Given the description of an element on the screen output the (x, y) to click on. 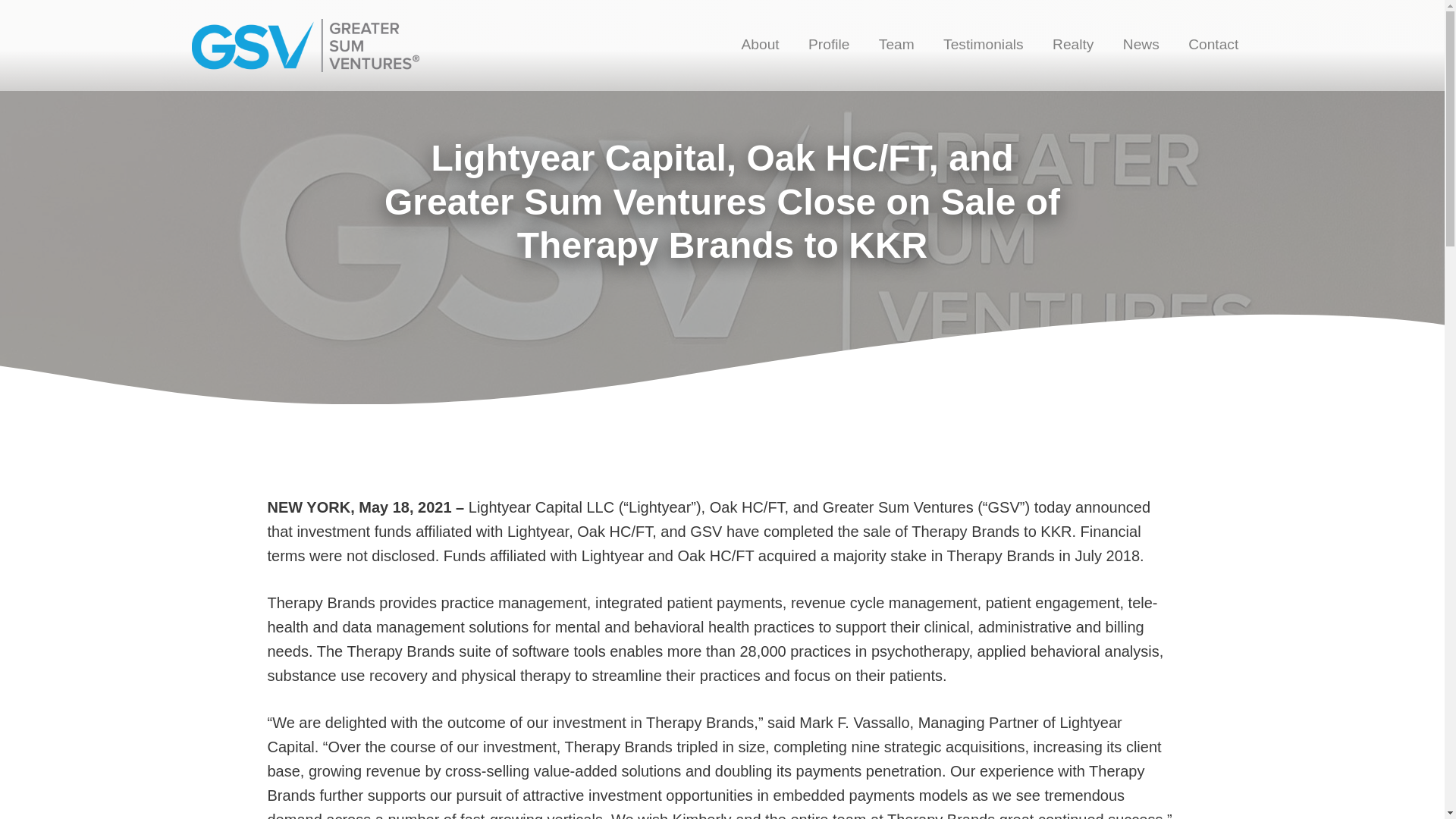
Profile (828, 45)
Contact (1213, 45)
Realty (1073, 45)
About (759, 45)
Testimonials (983, 45)
News (1140, 45)
Team (896, 45)
